Given the description of an element on the screen output the (x, y) to click on. 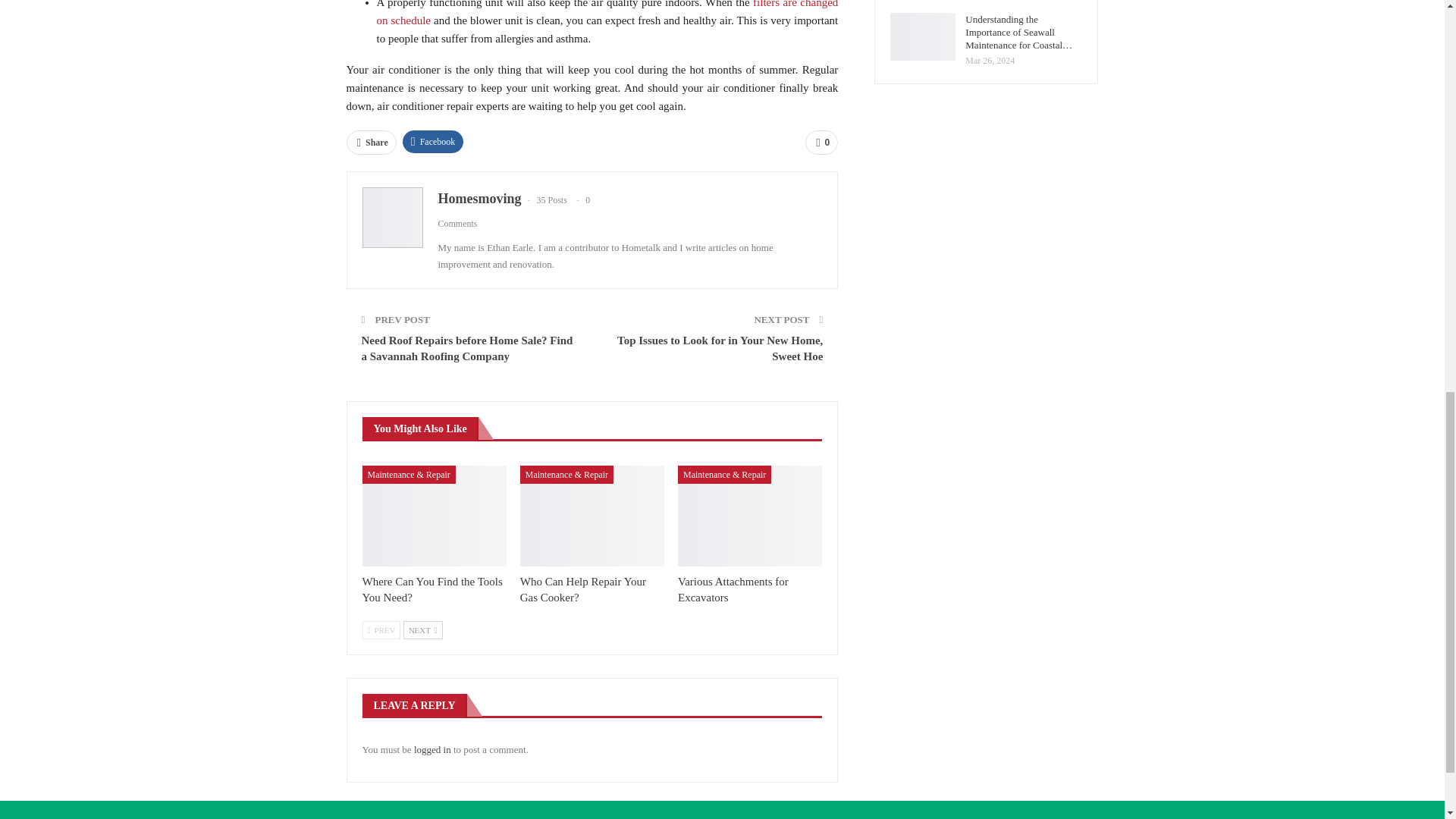
Various Attachments for Excavators (750, 516)
Who Can Help Repair Your Gas Cooker? (582, 589)
filters are changed on schedule (606, 13)
Various Attachments for Excavators (733, 589)
Facebook (433, 141)
Where Can You Find the Tools You Need? (432, 589)
Top Issues to Look for in Your New Home, Sweet Hoe (719, 348)
You Might Also Like (420, 427)
0 (821, 142)
Various Attachments for Excavators (733, 589)
Where Can You Find the Tools You Need? (432, 589)
Homesmoving (479, 198)
Where Can You Find the Tools You Need? (434, 516)
Who Can Help Repair Your Gas Cooker? (582, 589)
